Given the description of an element on the screen output the (x, y) to click on. 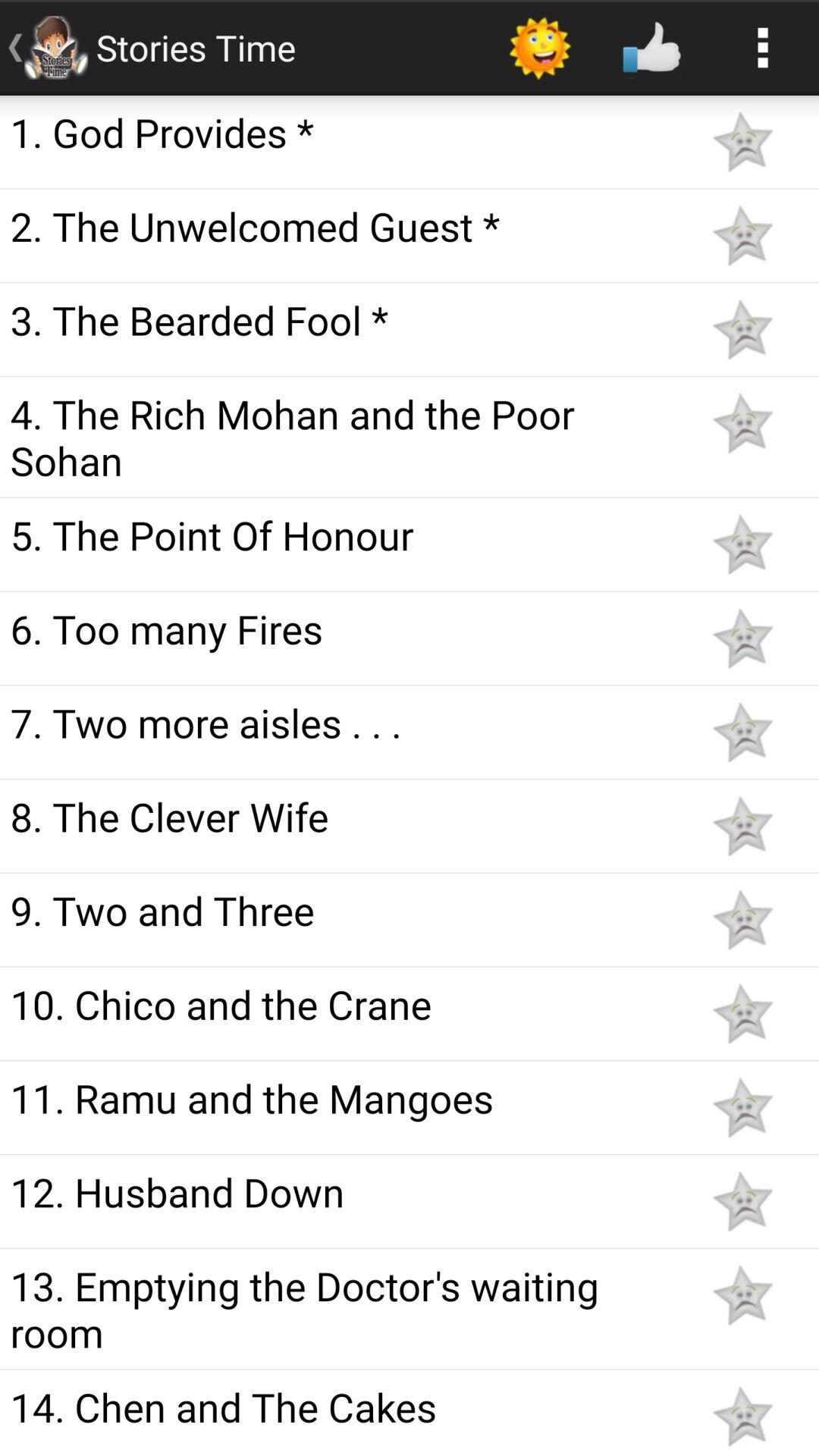
like a story (742, 423)
